Given the description of an element on the screen output the (x, y) to click on. 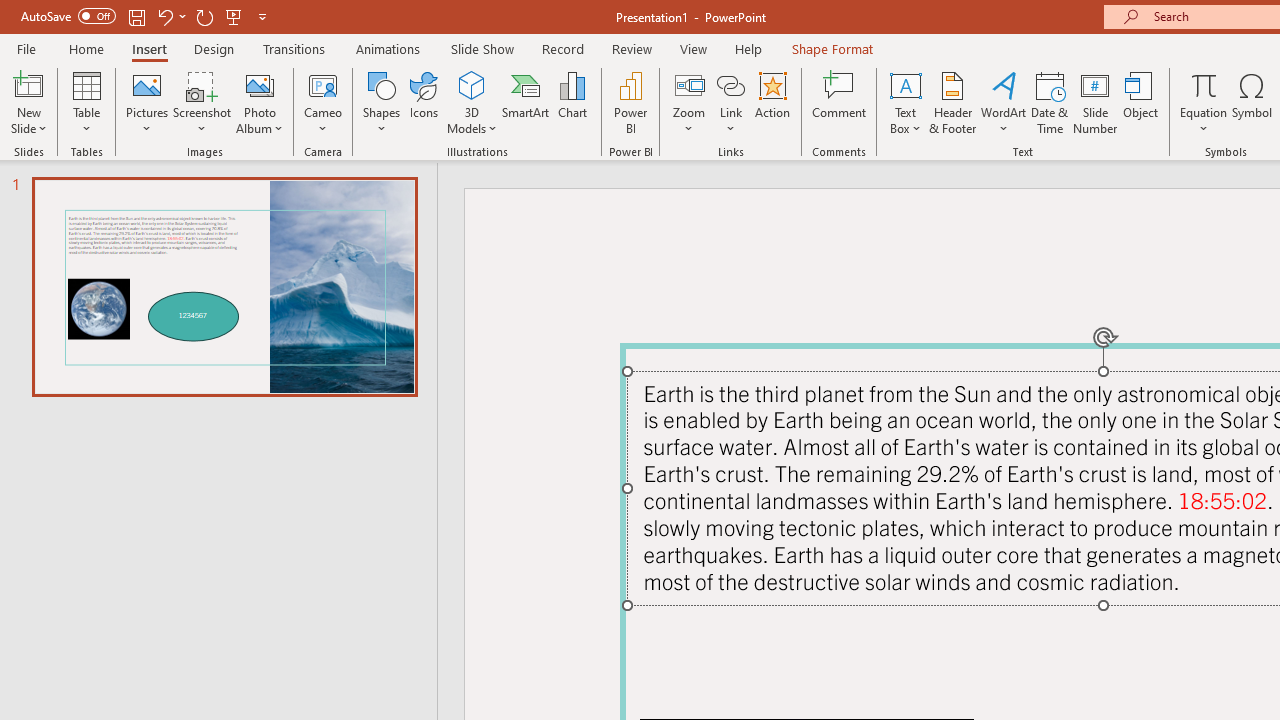
Table (86, 102)
New Photo Album... (259, 84)
Header & Footer... (952, 102)
SmartArt... (525, 102)
WordArt (1004, 102)
Power BI (630, 102)
